Given the description of an element on the screen output the (x, y) to click on. 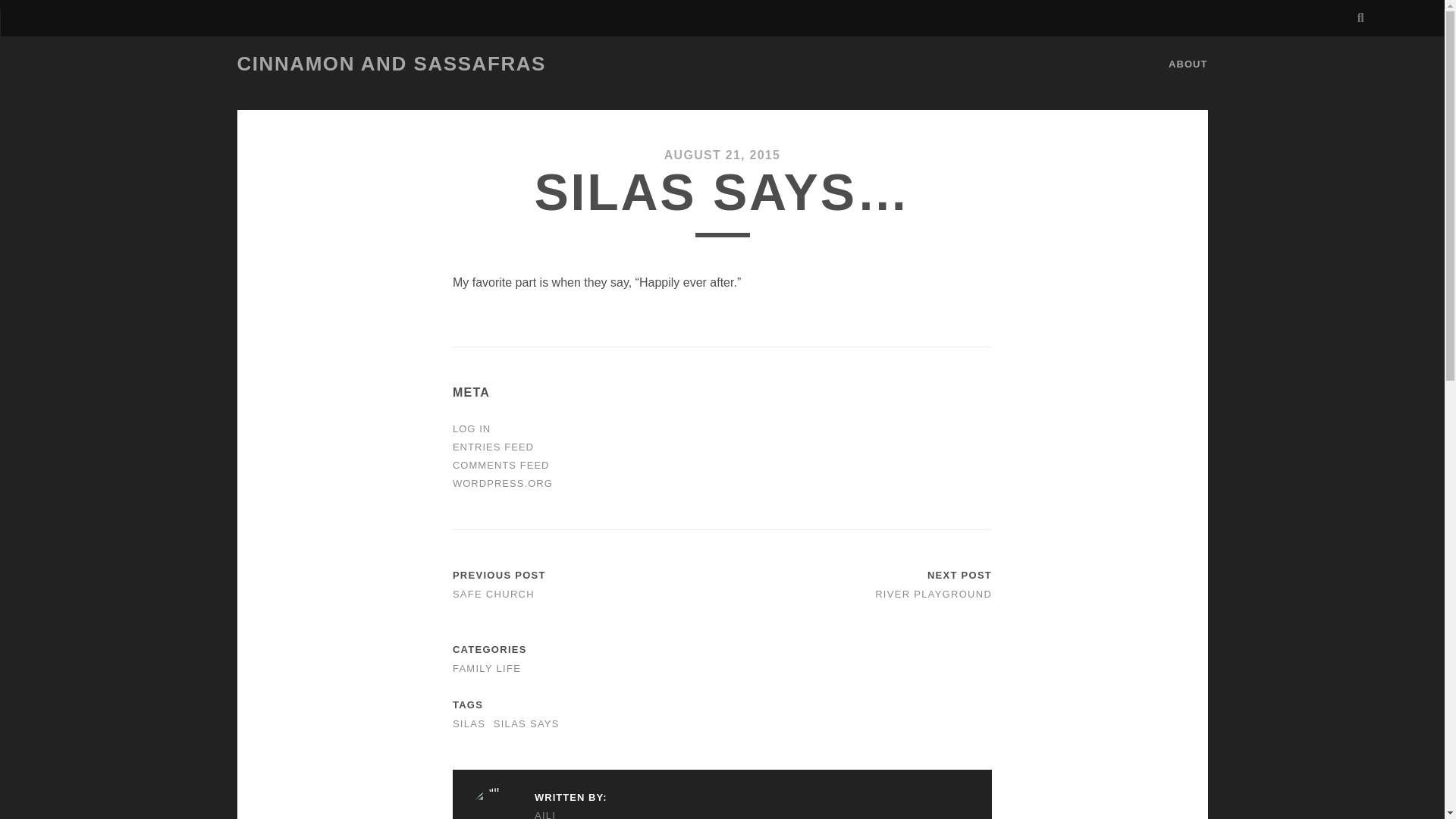
SILAS (468, 723)
SAFE CHURCH (493, 593)
WORDPRESS.ORG (502, 482)
View all posts tagged Silas (468, 723)
CINNAMON AND SASSAFRAS (389, 63)
RIVER PLAYGROUND (933, 593)
ENTRIES FEED (493, 446)
LOG IN (471, 428)
AILI (538, 812)
ABOUT (1188, 64)
View all posts in Family Life (486, 668)
COMMENTS FEED (501, 464)
FAMILY LIFE (486, 668)
SILAS SAYS (526, 723)
View all posts tagged Silas Says (526, 723)
